Given the description of an element on the screen output the (x, y) to click on. 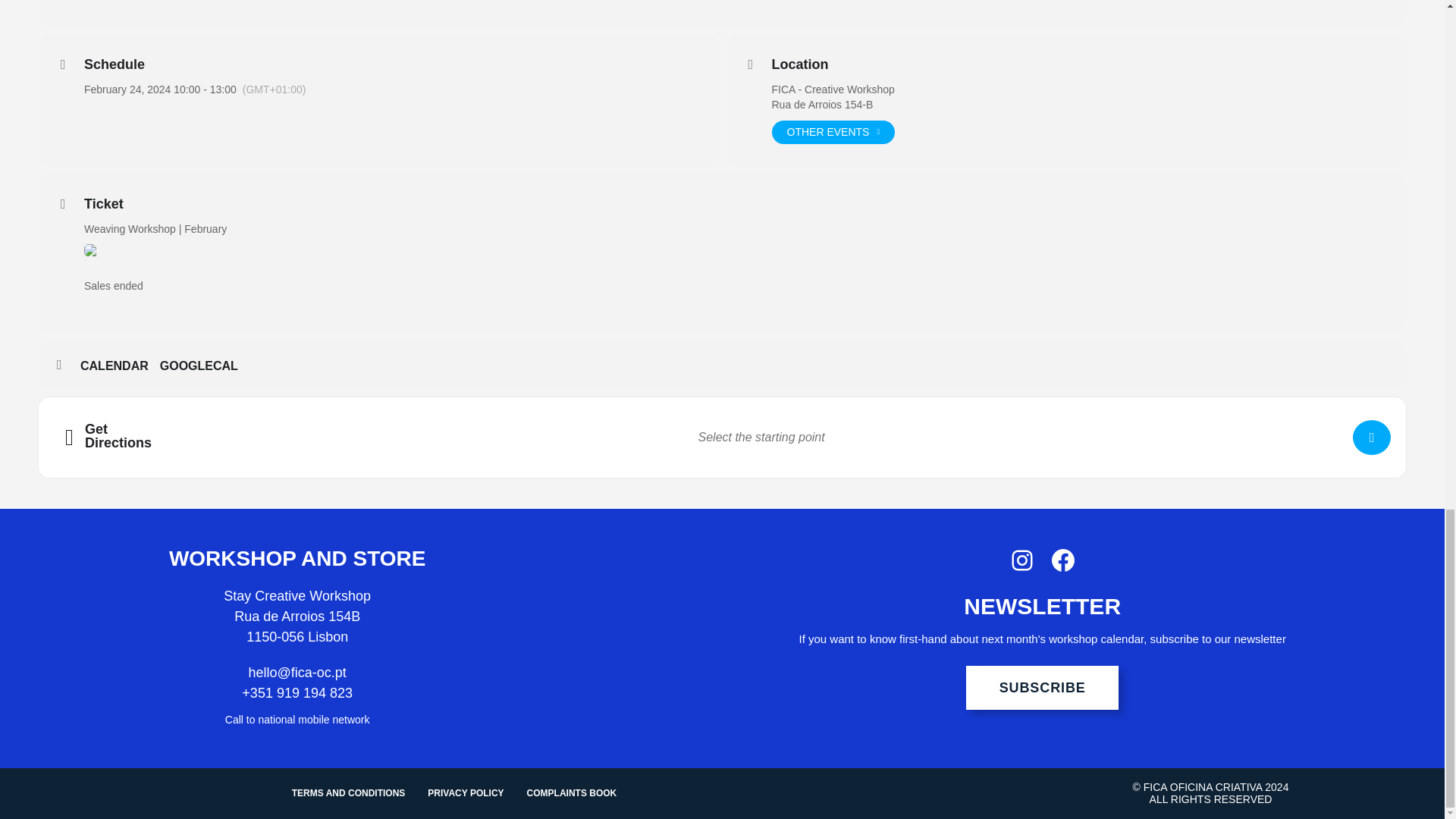
Select the starting point (1371, 437)
CALENDAR (120, 365)
GOOGLECAL (204, 365)
Add to calendar (120, 365)
Add to Google Calendar (204, 365)
